Given the description of an element on the screen output the (x, y) to click on. 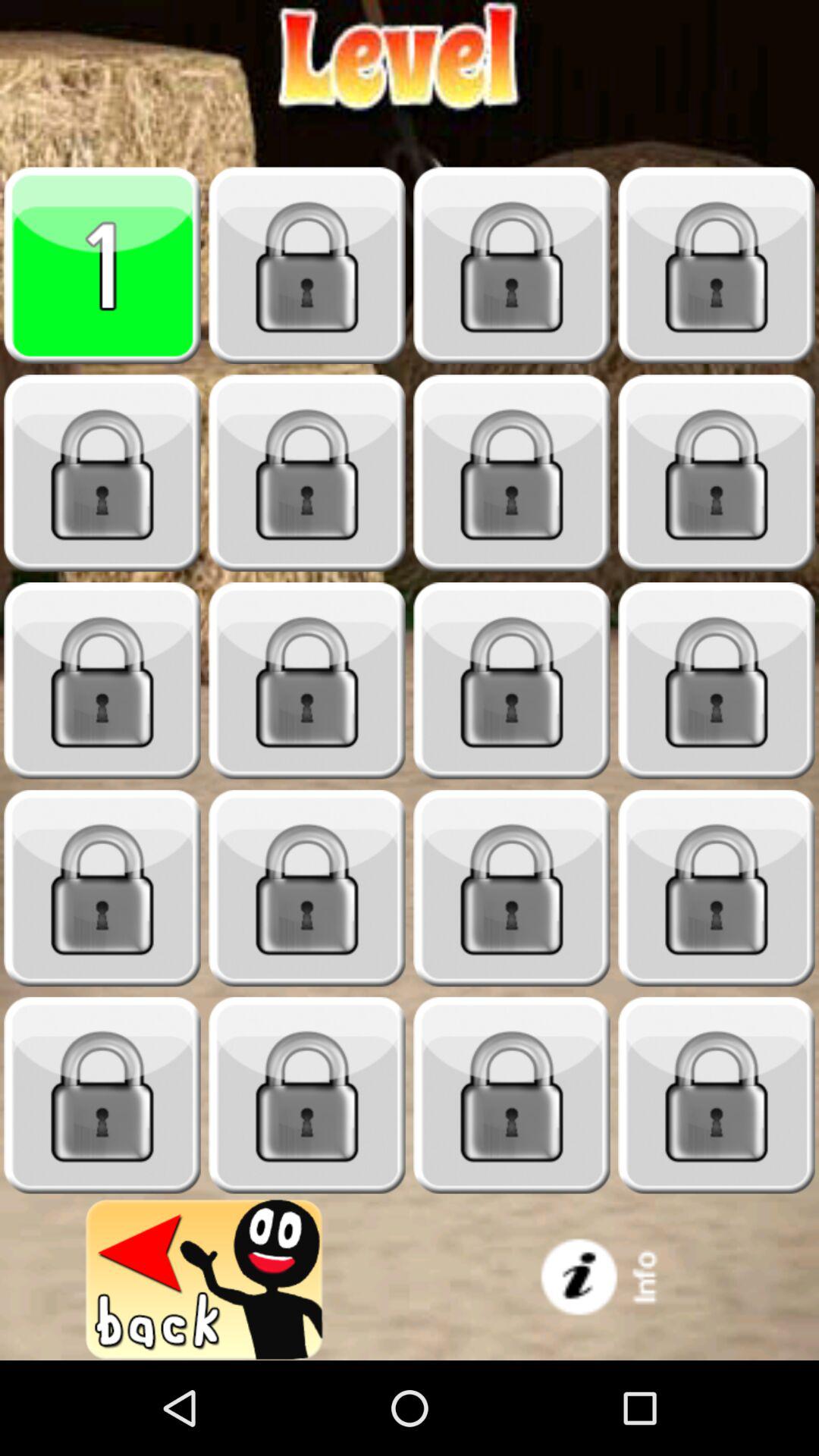
unlock this level (716, 265)
